Given the description of an element on the screen output the (x, y) to click on. 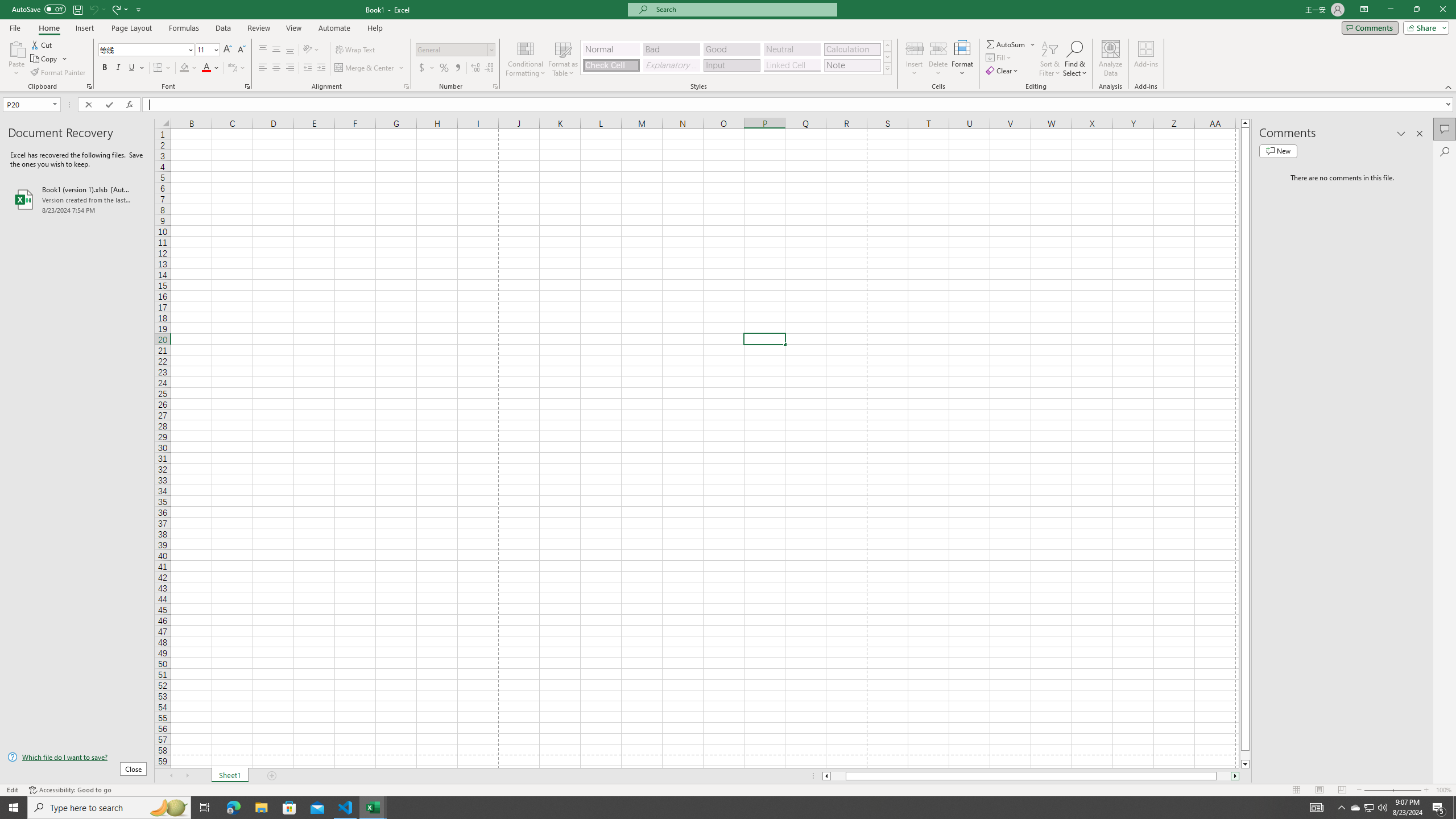
Bold (104, 67)
Format Cell Alignment (405, 85)
AutomationID: CellStylesGallery (736, 57)
Page left (838, 775)
Increase Indent (320, 67)
Bottom Border (157, 67)
